Given the description of an element on the screen output the (x, y) to click on. 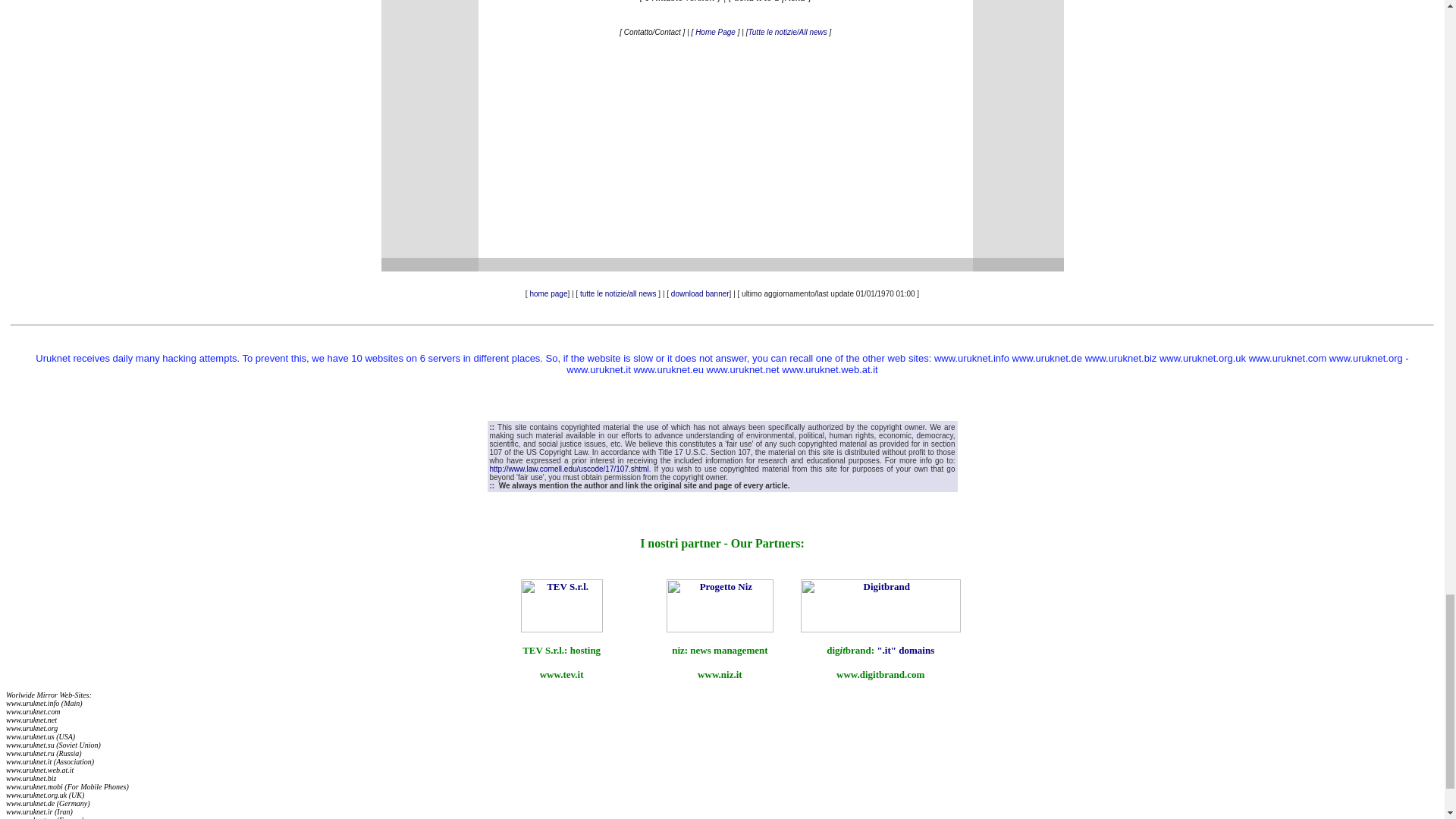
Printable version (680, 1)
